Given the description of an element on the screen output the (x, y) to click on. 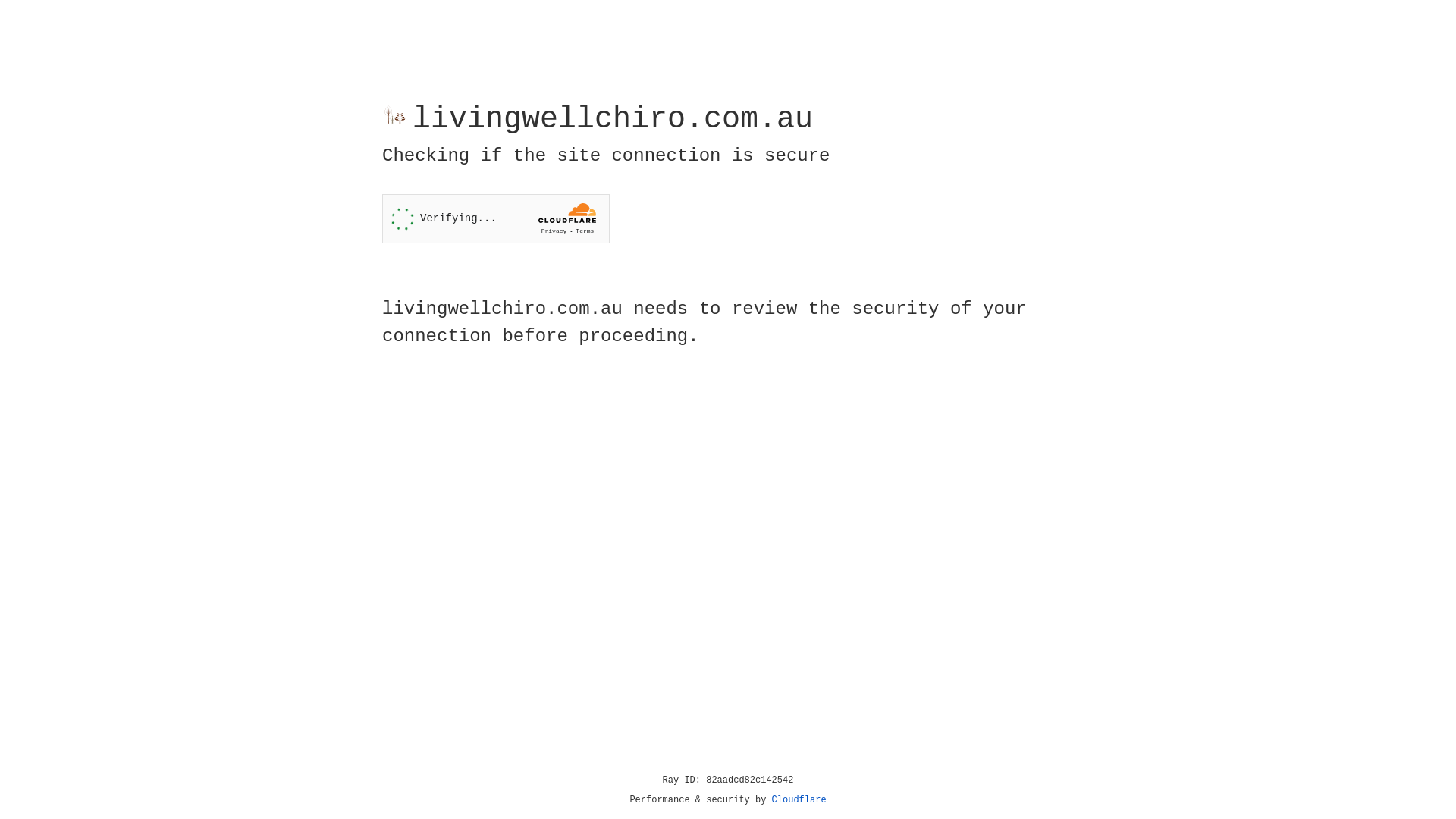
Cloudflare Element type: text (798, 799)
Widget containing a Cloudflare security challenge Element type: hover (495, 218)
